Given the description of an element on the screen output the (x, y) to click on. 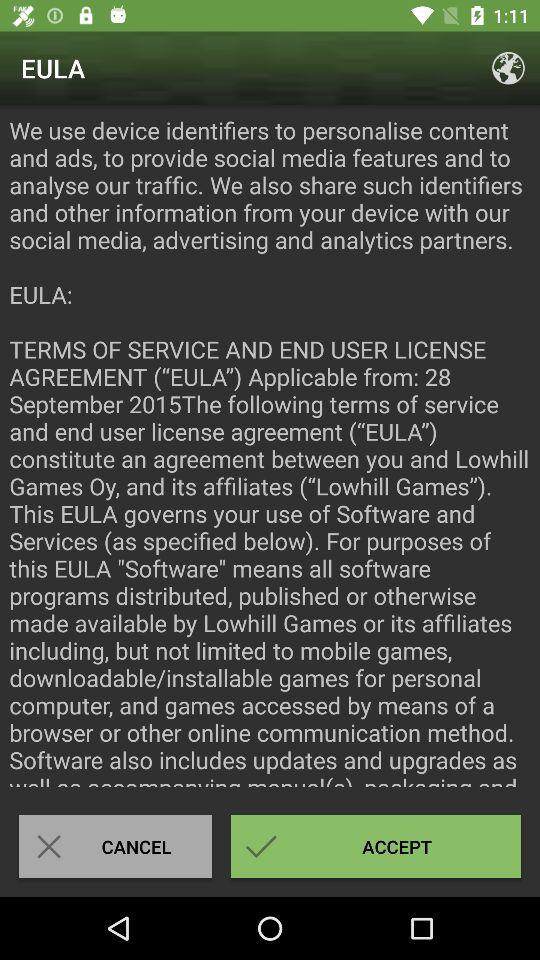
click icon next to the cancel (375, 846)
